Given the description of an element on the screen output the (x, y) to click on. 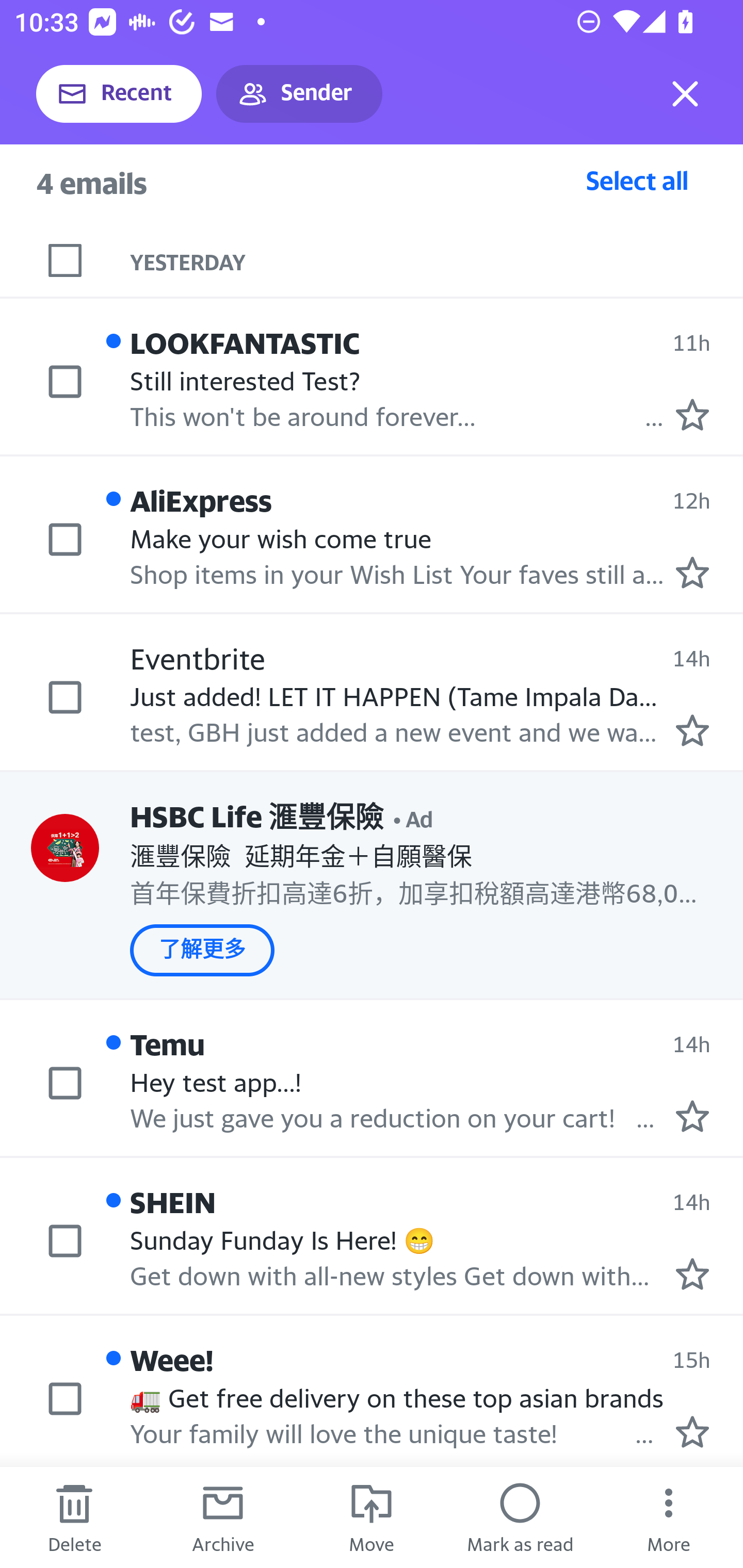
Sender (299, 93)
Exit selection mode (684, 93)
Select all (637, 180)
YESTERDAY (436, 260)
Mark as starred. (692, 414)
Mark as starred. (692, 573)
Mark as starred. (692, 729)
Mark as starred. (692, 1115)
Mark as starred. (692, 1273)
Mark as starred. (692, 1432)
Delete (74, 1517)
Archive (222, 1517)
Move (371, 1517)
Mark as read (519, 1517)
More (668, 1517)
